Given the description of an element on the screen output the (x, y) to click on. 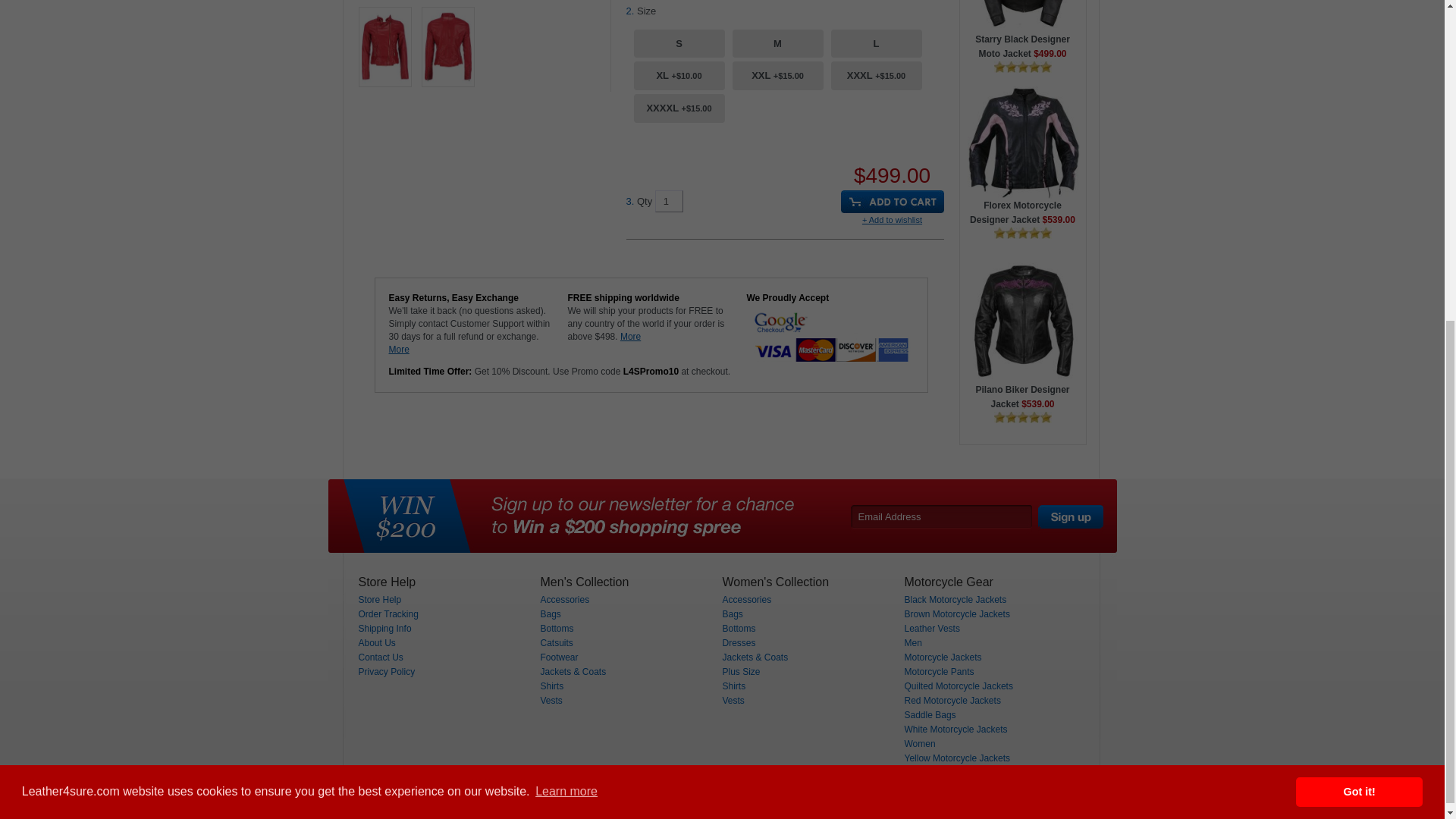
More (398, 348)
Learn more (565, 264)
More (630, 336)
Email Address (940, 516)
1 (668, 201)
Got it! (1358, 265)
